Given the description of an element on the screen output the (x, y) to click on. 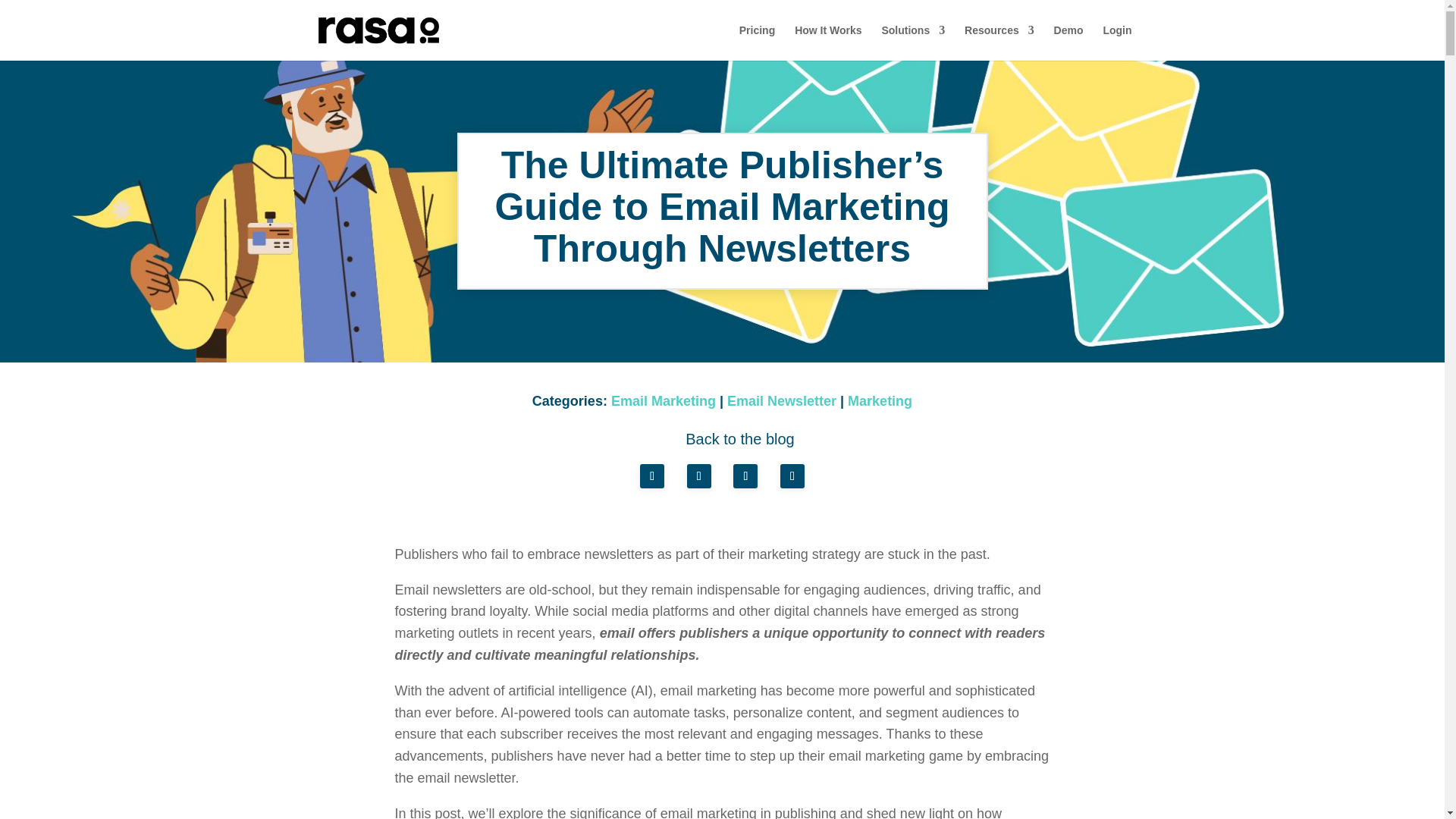
Marketing (879, 400)
Pricing (756, 42)
Follow on Instagram (792, 476)
Email Newsletter (780, 400)
Follow on X (699, 476)
Solutions (912, 42)
Resources (998, 42)
How It Works (827, 42)
Follow on Facebook (651, 476)
Email Marketing (663, 400)
Follow on LinkedIn (745, 476)
